Given the description of an element on the screen output the (x, y) to click on. 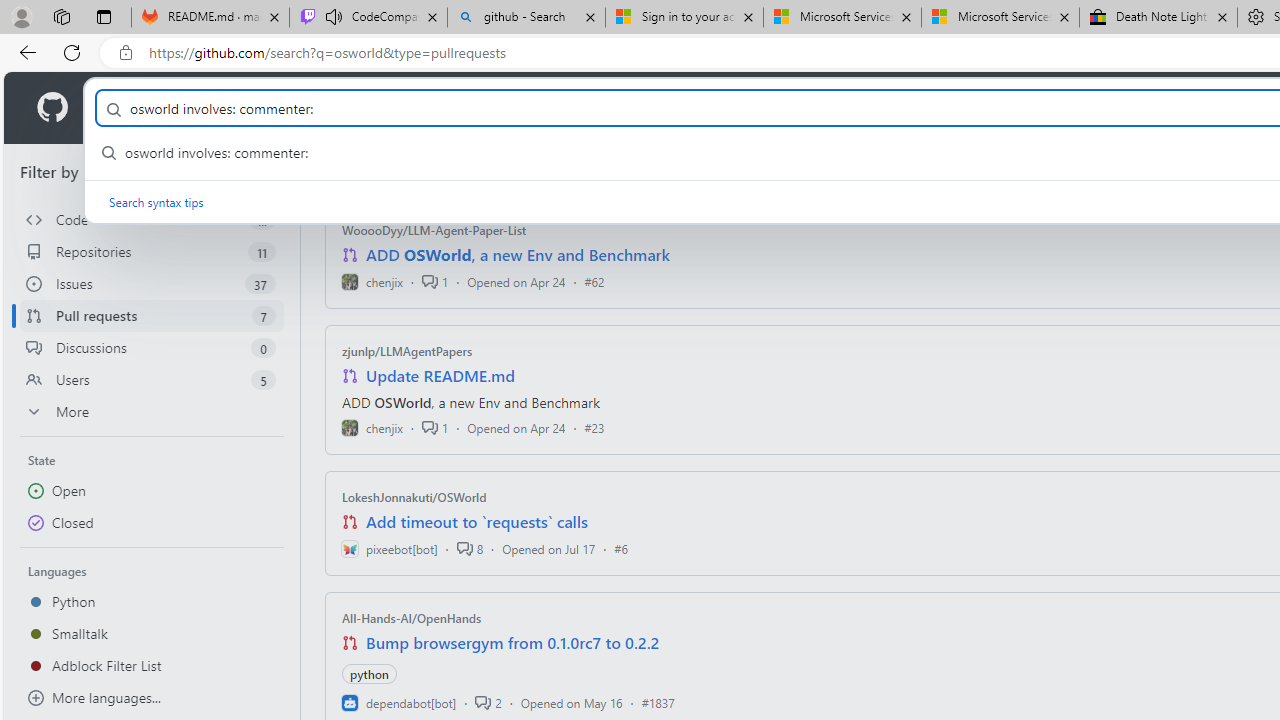
Bump browsergym from 0.1.0rc7 to 0.2.2 (513, 642)
Solutions (225, 107)
More (152, 411)
All-Hands-AI/OpenHands (411, 618)
Add timeout to `requests` calls (476, 521)
Pricing (649, 107)
#23 (594, 427)
zjunlp/LLMAgentPapers (407, 351)
Enterprise (563, 107)
